Given the description of an element on the screen output the (x, y) to click on. 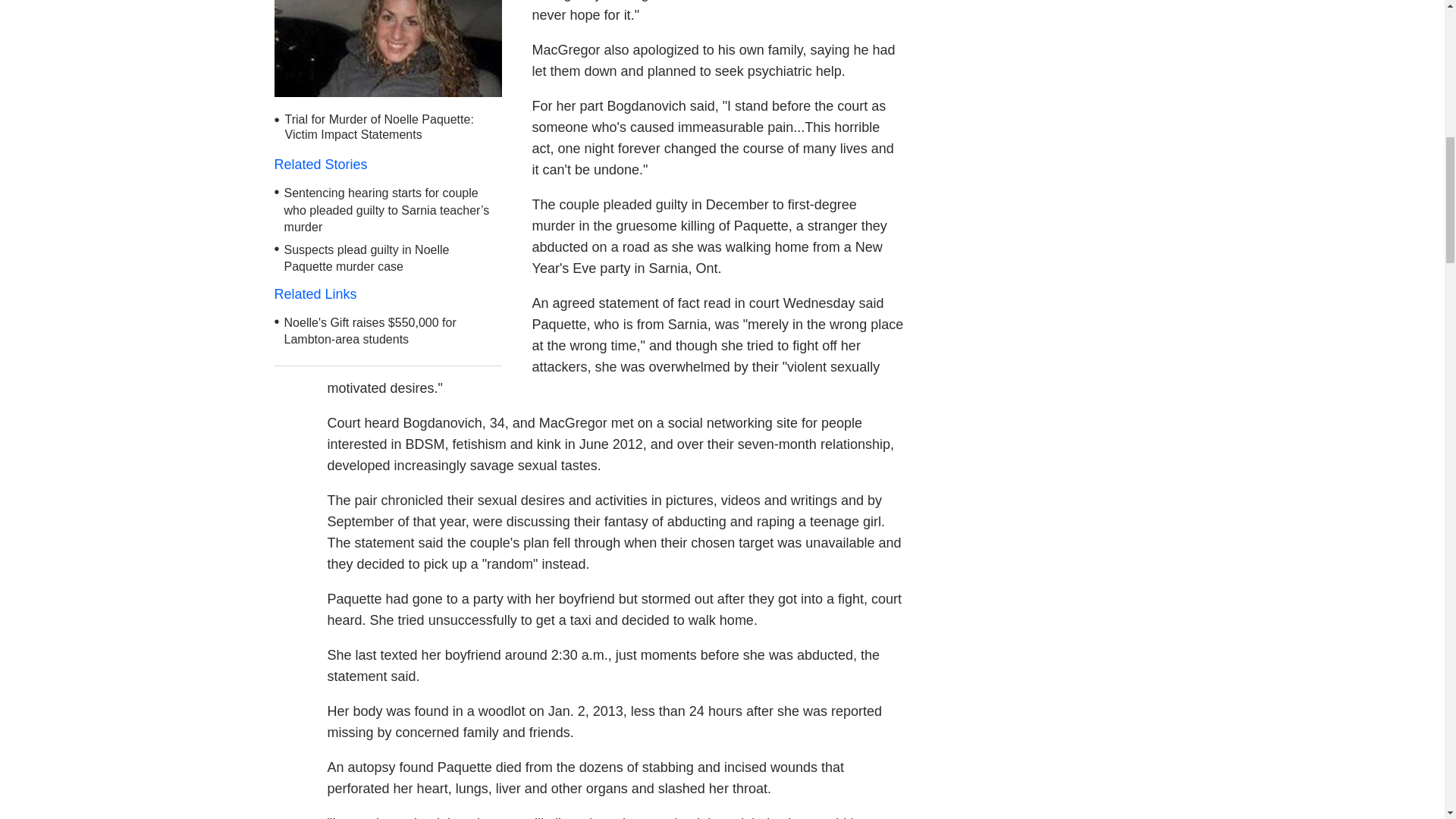
Suspects plead guilty in Noelle Paquette murder case (366, 258)
